Given the description of an element on the screen output the (x, y) to click on. 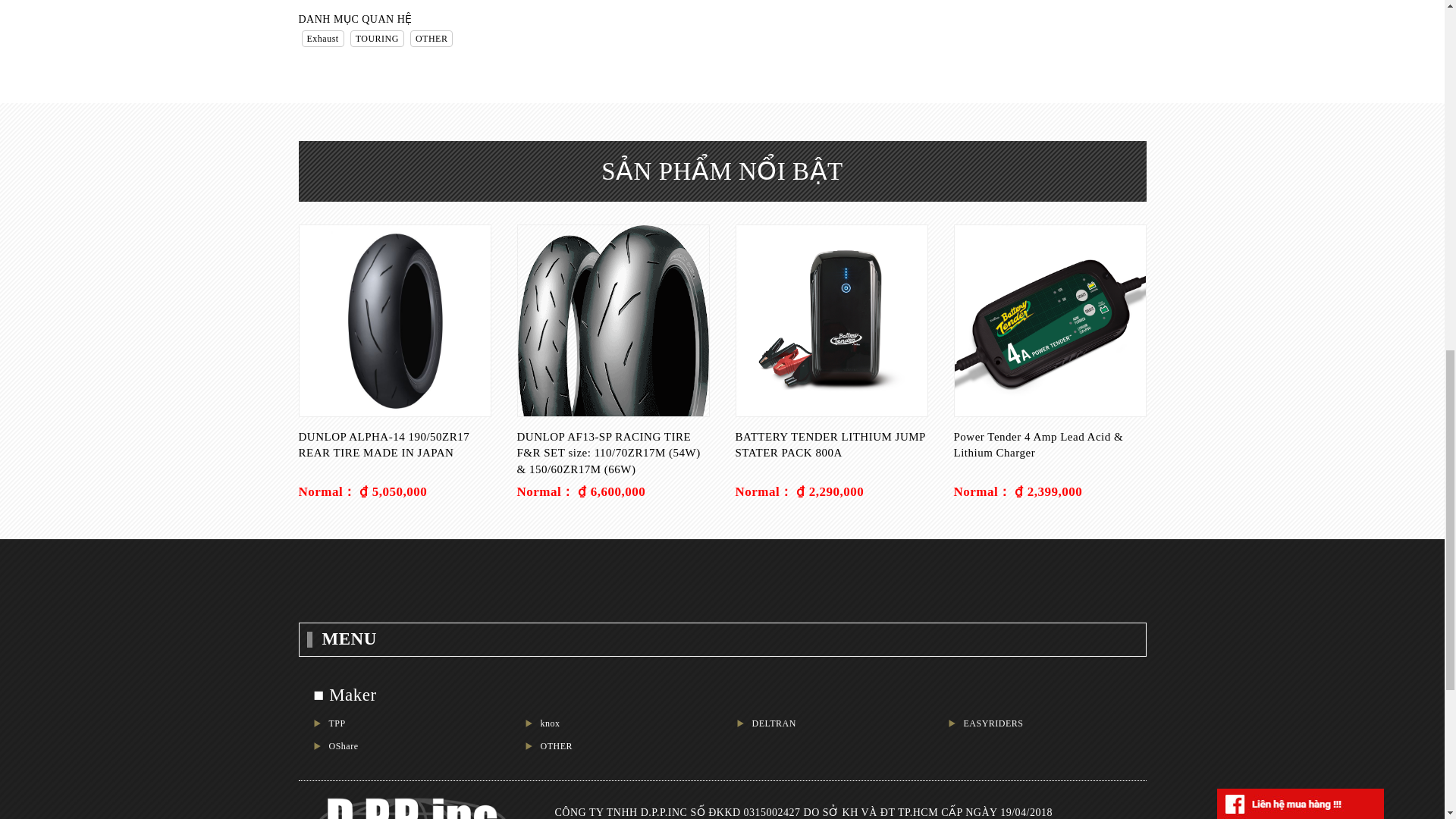
Exhaust (321, 38)
TOURING (376, 38)
